Given the description of an element on the screen output the (x, y) to click on. 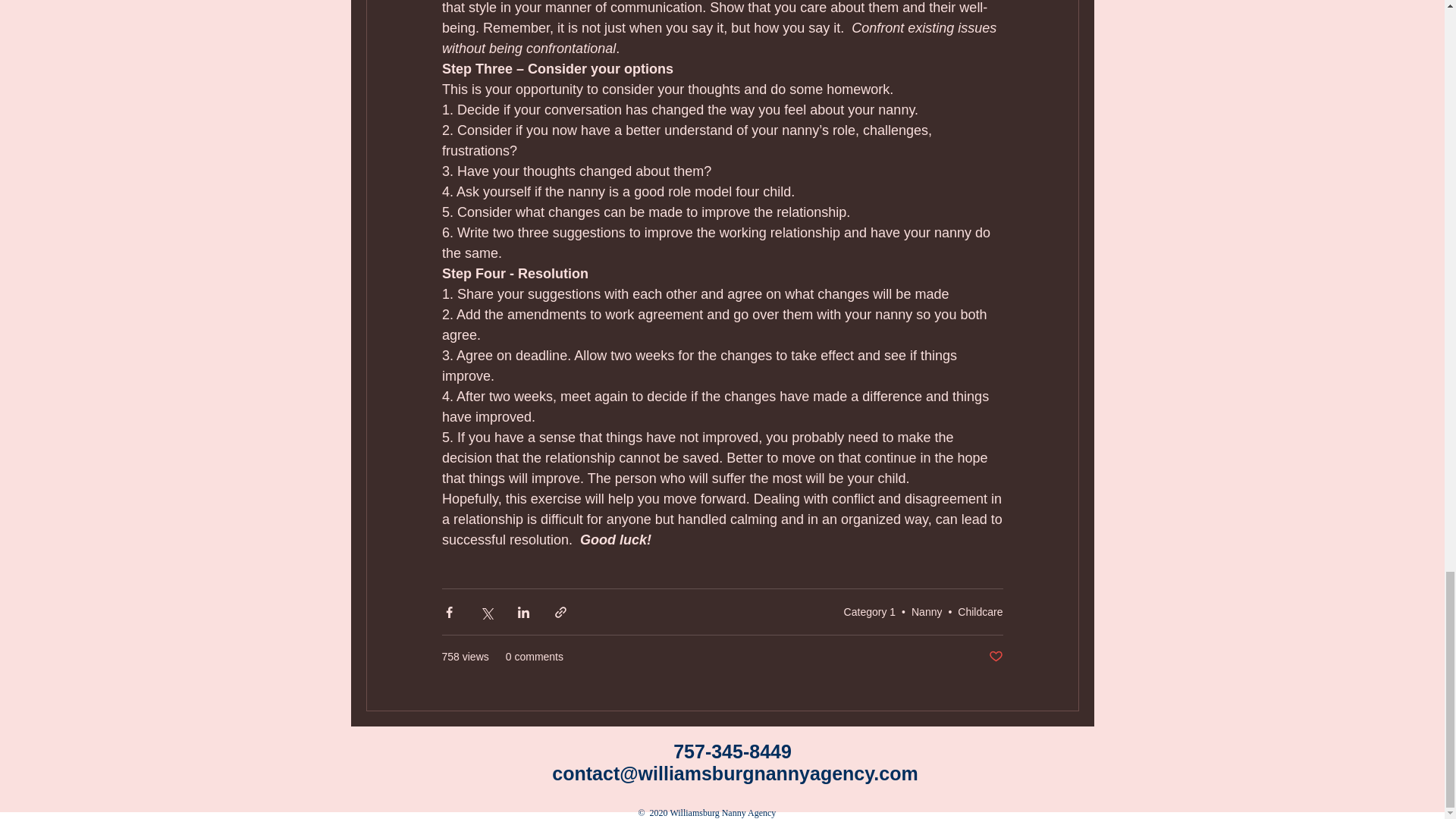
Post not marked as liked (995, 657)
Nanny (926, 612)
Childcare (980, 612)
Category 1 (869, 612)
